Given the description of an element on the screen output the (x, y) to click on. 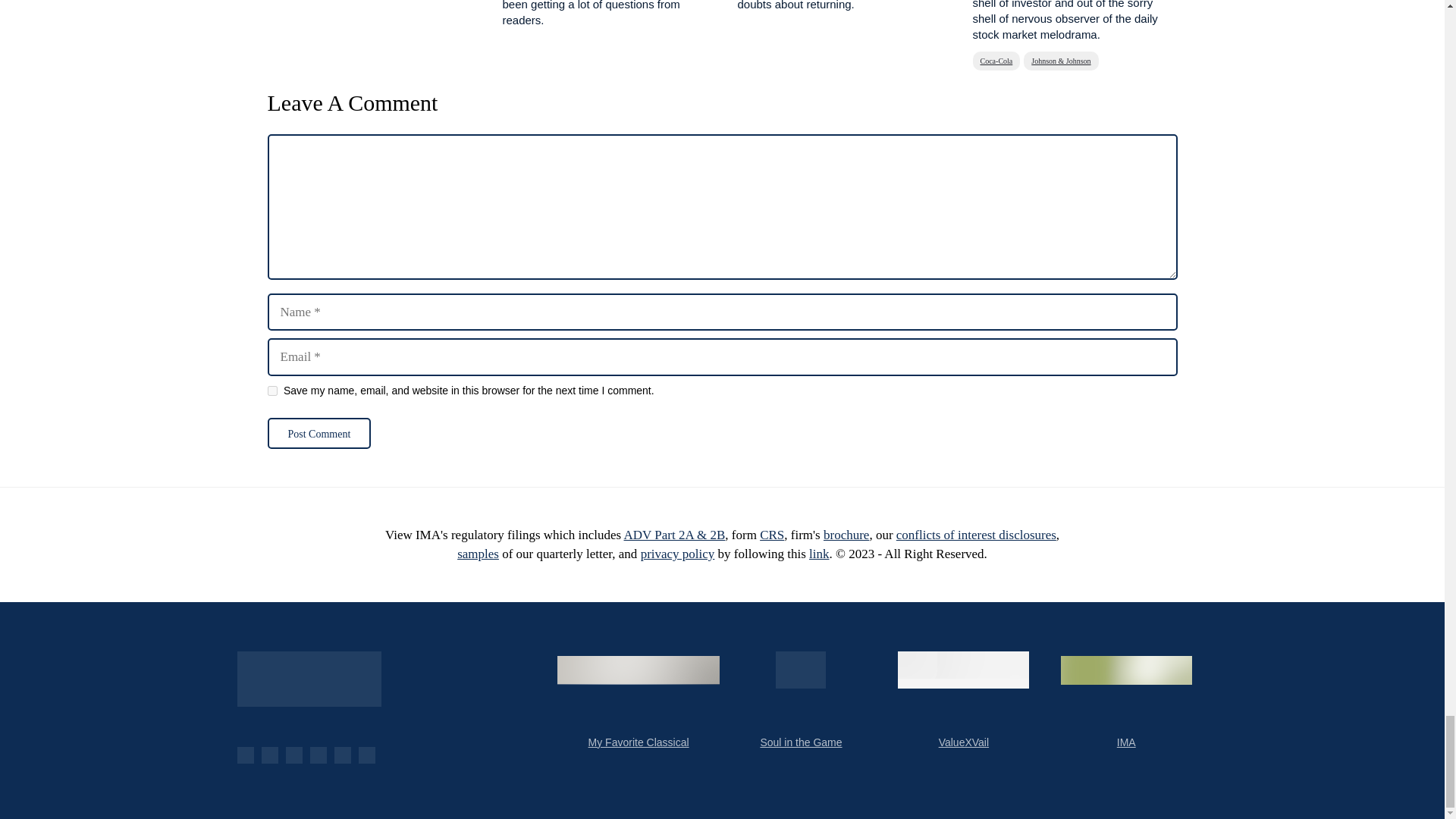
LinkedinLogo (317, 754)
FacebookLogo (244, 754)
TwitterLogo (293, 754)
TiktokLogo (366, 754)
The Intellectual Investor by Vitaliy Katsenelson (307, 678)
YoutubeLogo (269, 754)
Post Comment (318, 432)
InstagramLogo (341, 754)
yes (271, 390)
